Given the description of an element on the screen output the (x, y) to click on. 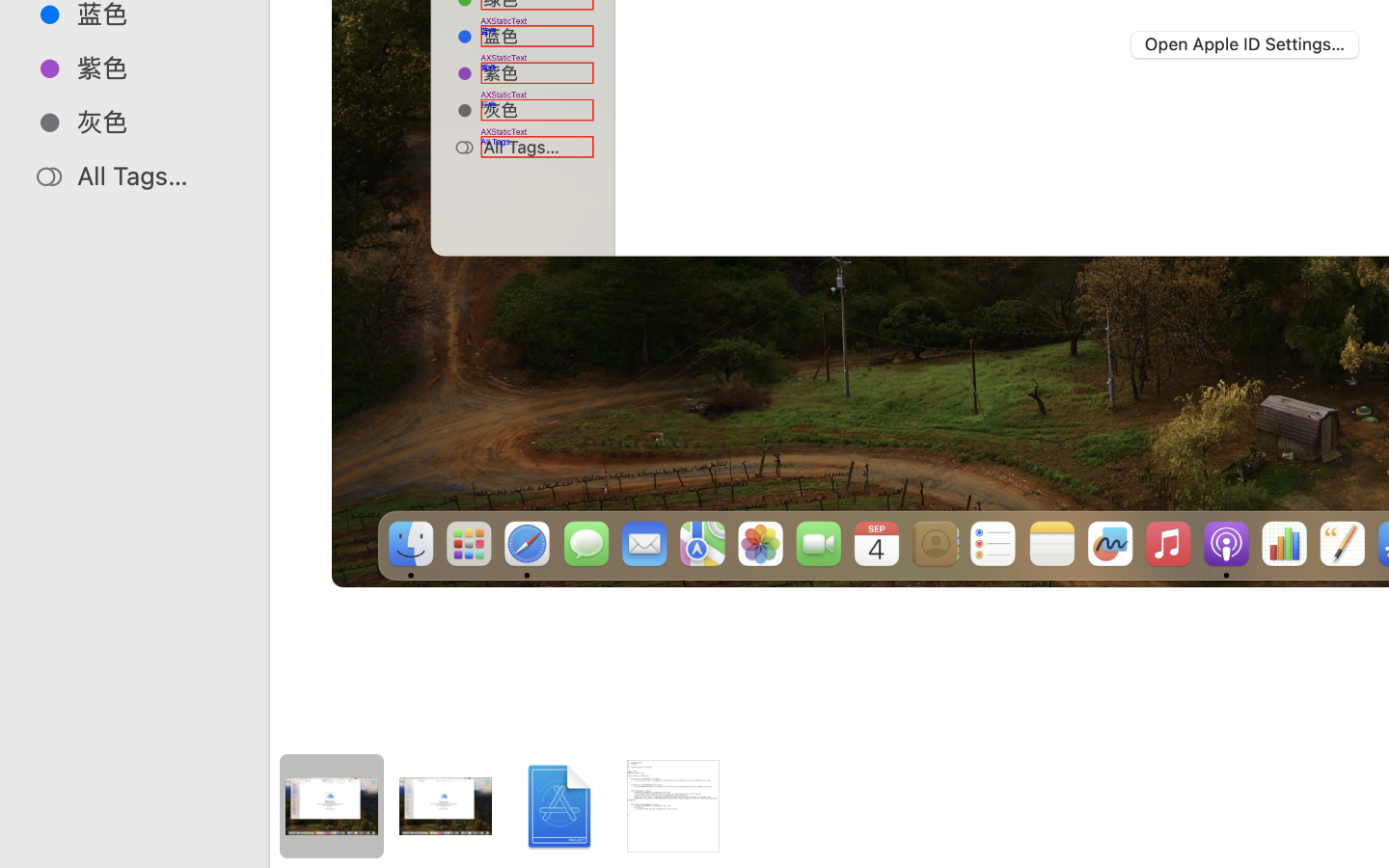
Recents Element type: AXStaticText (875, 786)
